Given the description of an element on the screen output the (x, y) to click on. 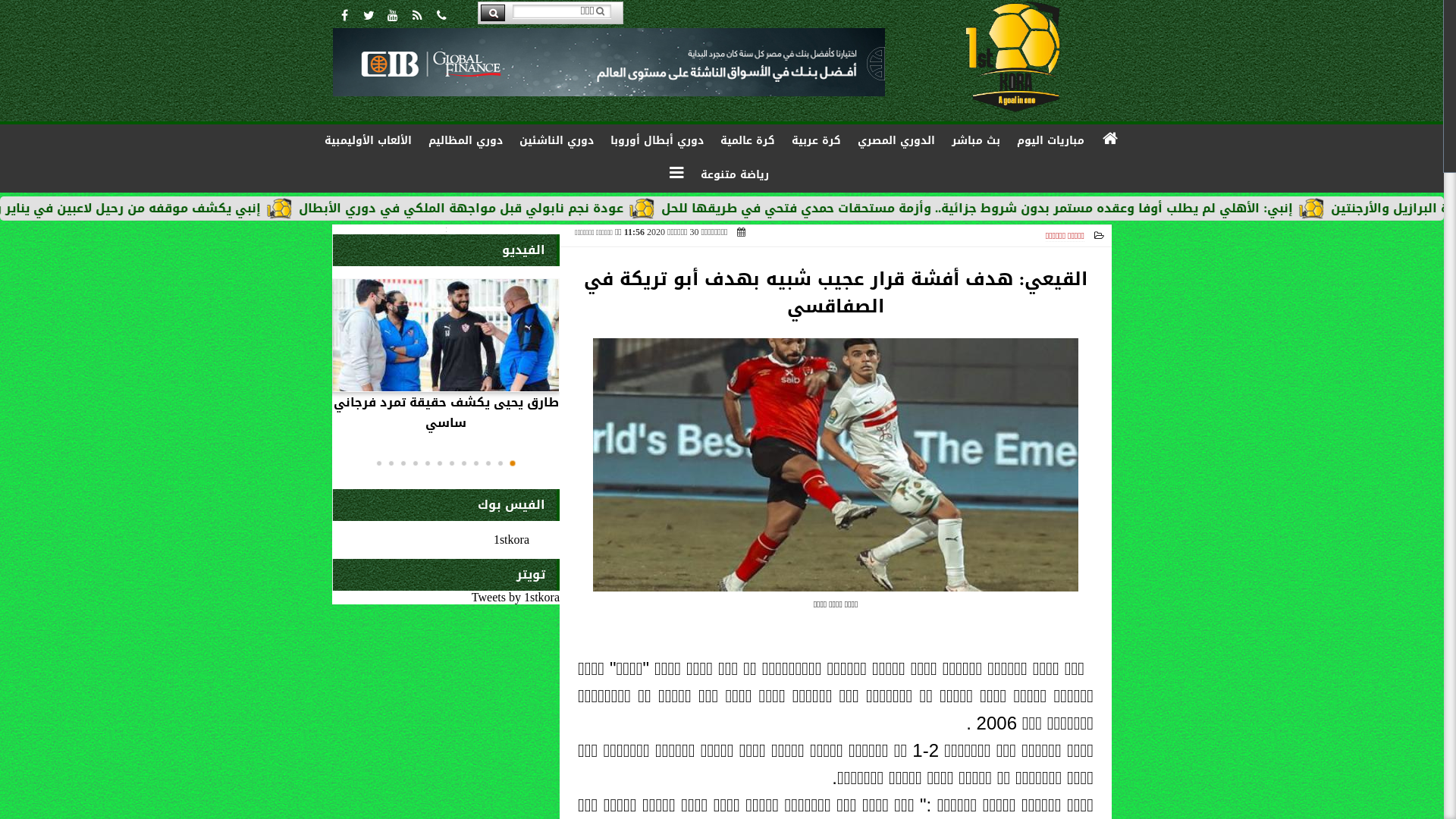
1stkora Element type: text (511, 539)
WE Element type: hover (445, 227)
Tweets by 1stkora Element type: text (515, 596)
CIB Element type: hover (608, 62)
WE Element type: hover (445, 226)
